Given the description of an element on the screen output the (x, y) to click on. 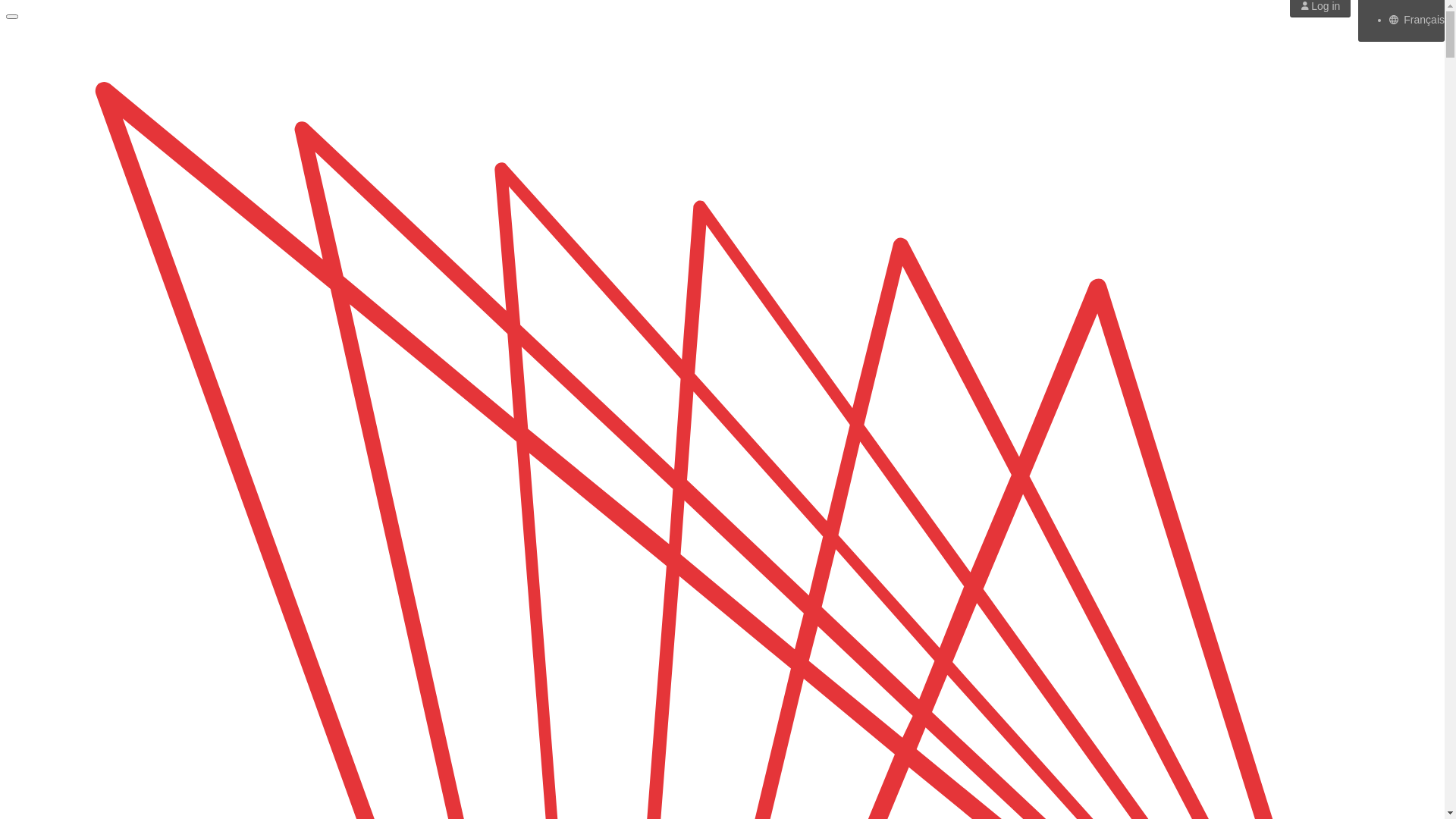
Skip to main content Element type: text (6, 6)
Log in Element type: text (1320, 6)
